Given the description of an element on the screen output the (x, y) to click on. 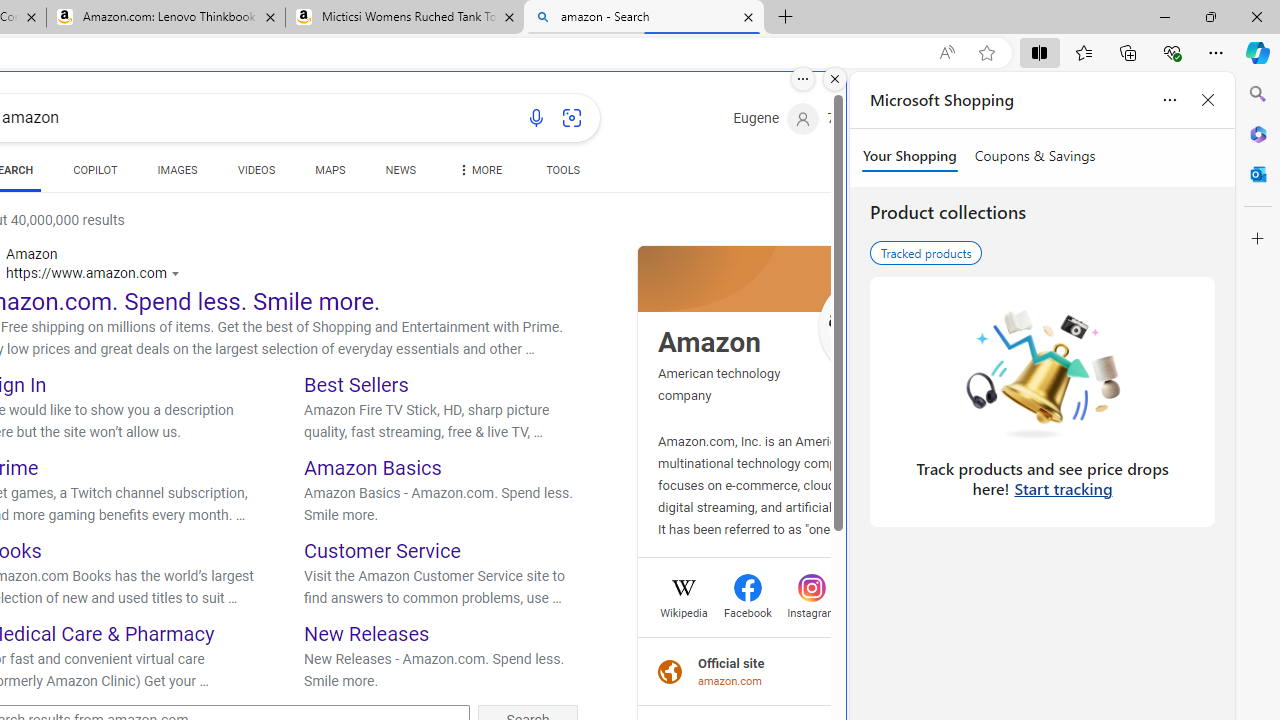
Microsoft Rewards 72 (856, 119)
amazon - Search (643, 17)
Instagram (811, 610)
Outlook (1258, 174)
Class: sp-ofsite (669, 671)
Search using voice (536, 117)
amazon.com (731, 681)
More options. (803, 79)
New Releases (367, 632)
Amazon (709, 341)
